Given the description of an element on the screen output the (x, y) to click on. 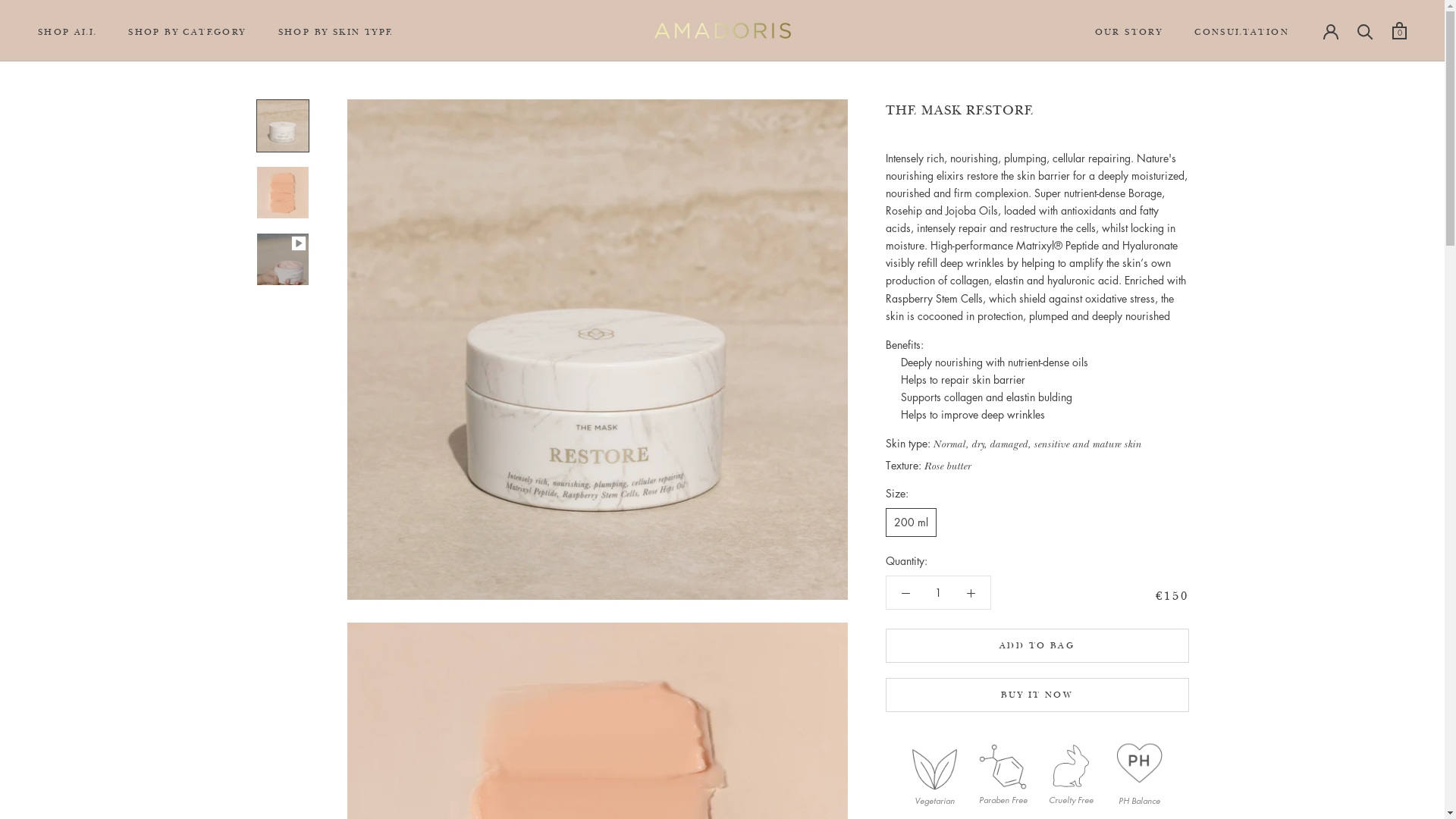
OUR STORY Element type: text (1129, 31)
0 Element type: text (1399, 30)
SHOP BY SKIN TYPE
SHOP BY SKIN TYPE Element type: text (335, 31)
ADD TO BAG Element type: text (1037, 645)
SHOP ALL
SHOP ALL Element type: text (66, 31)
SHOP BY CATEGORY
SHOP BY CATEGORY Element type: text (186, 31)
CONSULTATION
CONSULTATION Element type: text (1241, 31)
BUY IT NOW Element type: text (1037, 694)
